Given the description of an element on the screen output the (x, y) to click on. 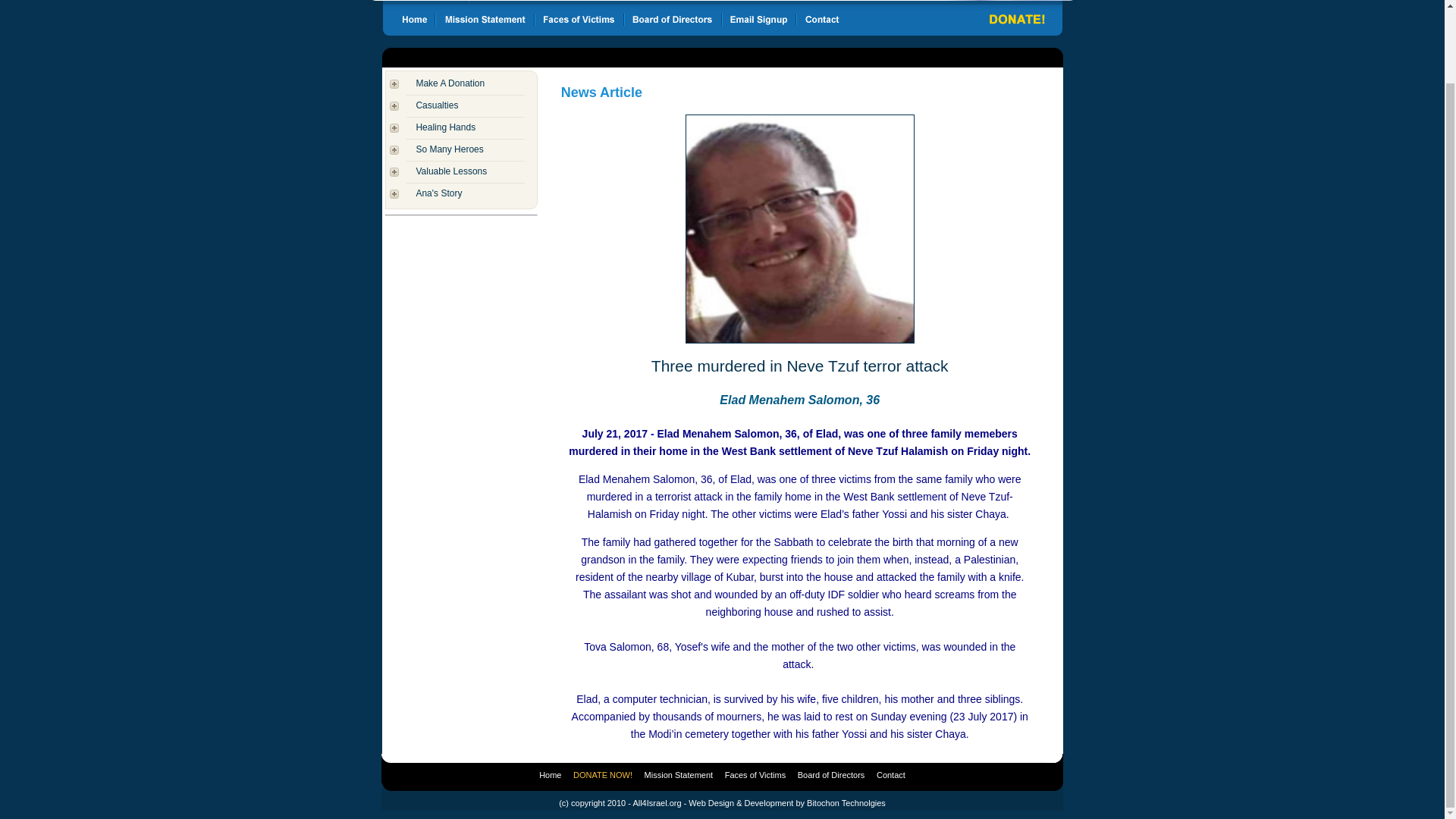
Make A Donation (449, 82)
So Many Heroes (448, 149)
Ana's Story (437, 193)
Healing Hands (445, 127)
Casualties (436, 104)
Faces of Victims (755, 774)
Mission Statement (679, 774)
DONATE NOW! (602, 774)
Board of Directors (830, 774)
Home (549, 774)
Valuable Lessons (450, 171)
Contact (890, 774)
